Given the description of an element on the screen output the (x, y) to click on. 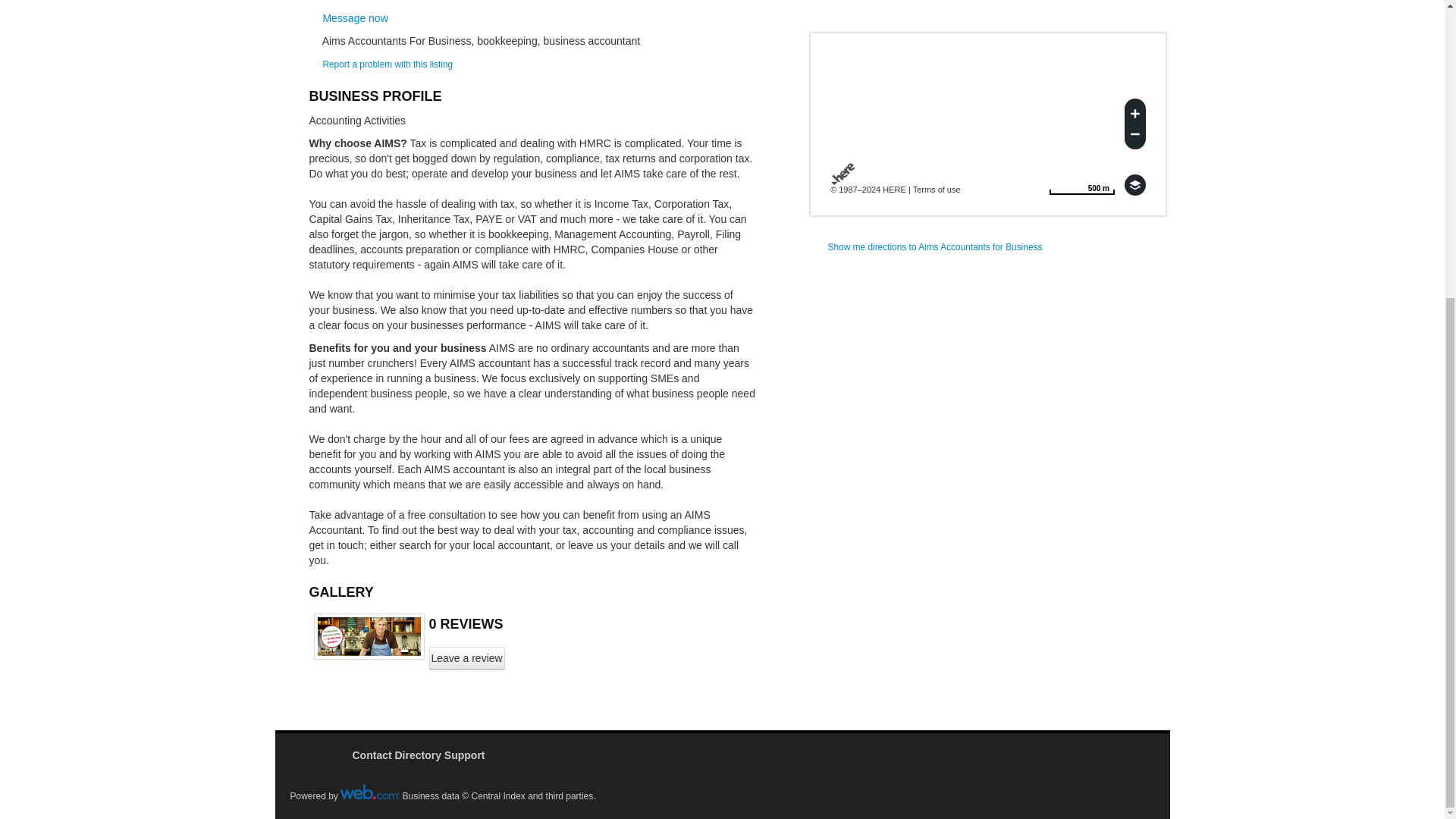
Choose view (1134, 184)
Leave a review (467, 658)
Change to miles (1081, 184)
Message now (354, 18)
01706 2... (391, 0)
click to show number (1081, 184)
Report a problem with this listing (391, 0)
